Given the description of an element on the screen output the (x, y) to click on. 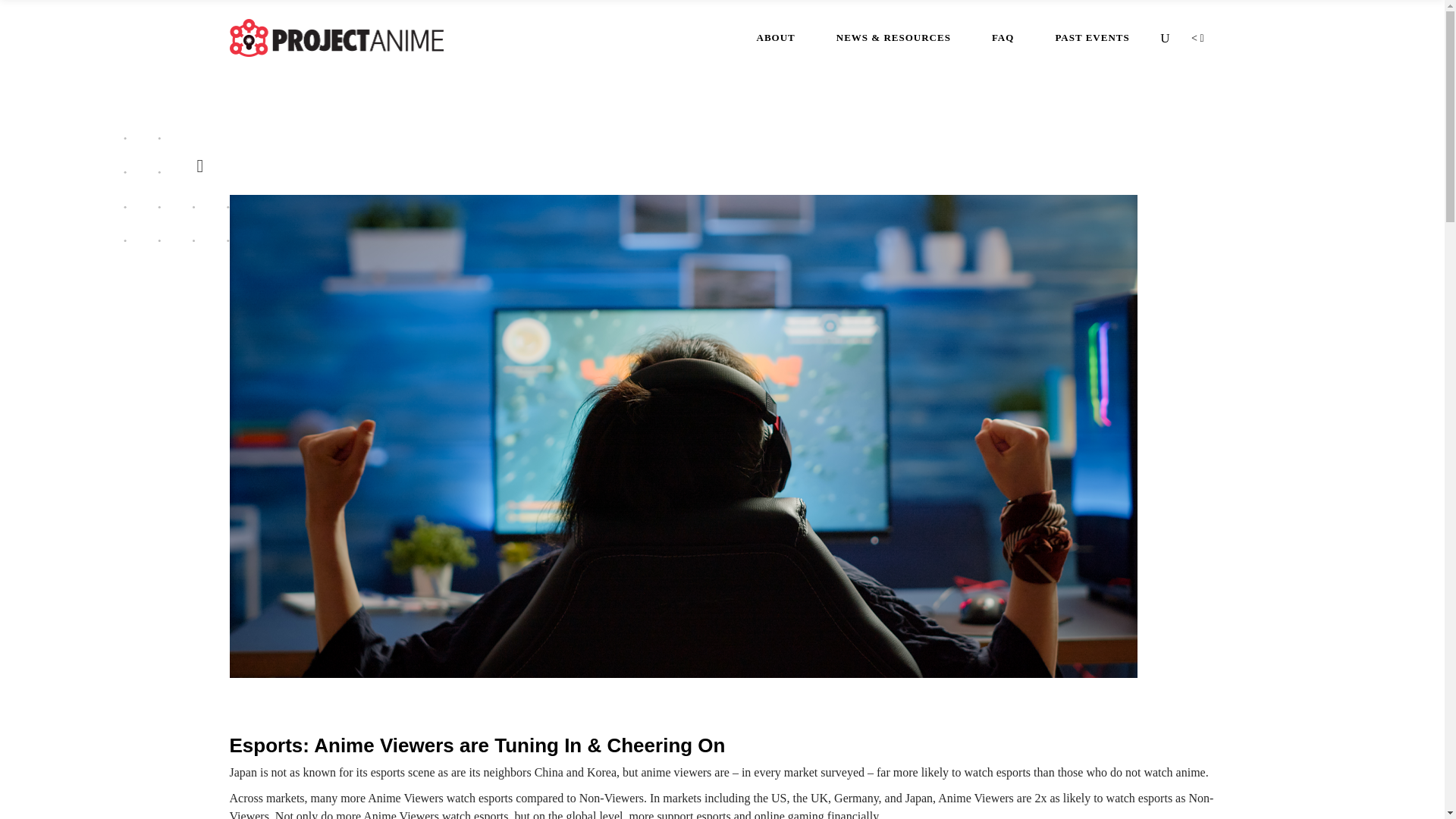
ABOUT (775, 38)
FAQ (1002, 38)
PAST EVENTS (1091, 38)
